Given the description of an element on the screen output the (x, y) to click on. 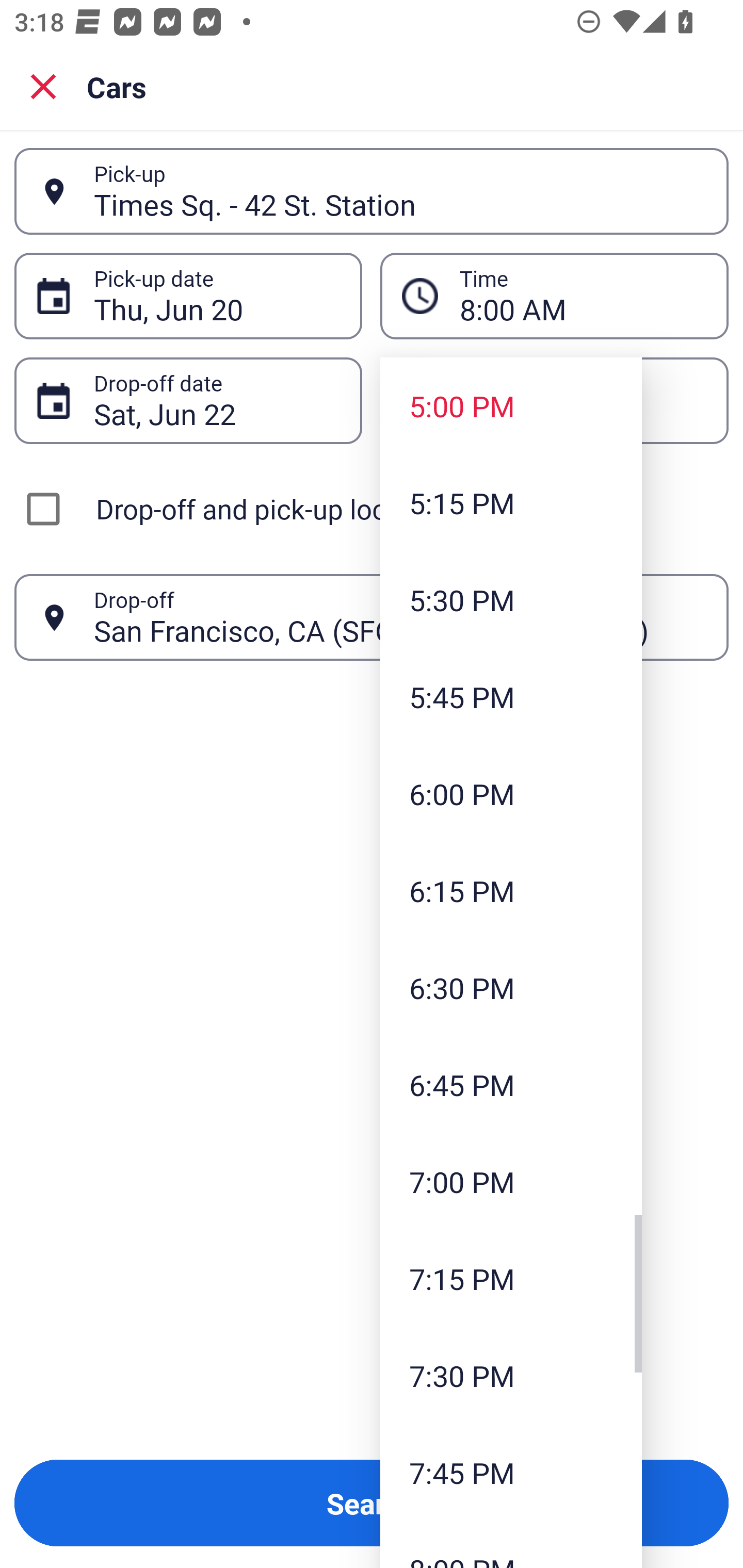
5:00 PM (510, 405)
5:15 PM (510, 502)
5:30 PM (510, 599)
5:45 PM (510, 695)
6:00 PM (510, 793)
6:15 PM (510, 890)
6:30 PM (510, 987)
6:45 PM (510, 1084)
7:00 PM (510, 1181)
7:15 PM (510, 1278)
7:30 PM (510, 1374)
7:45 PM (510, 1471)
